Given the description of an element on the screen output the (x, y) to click on. 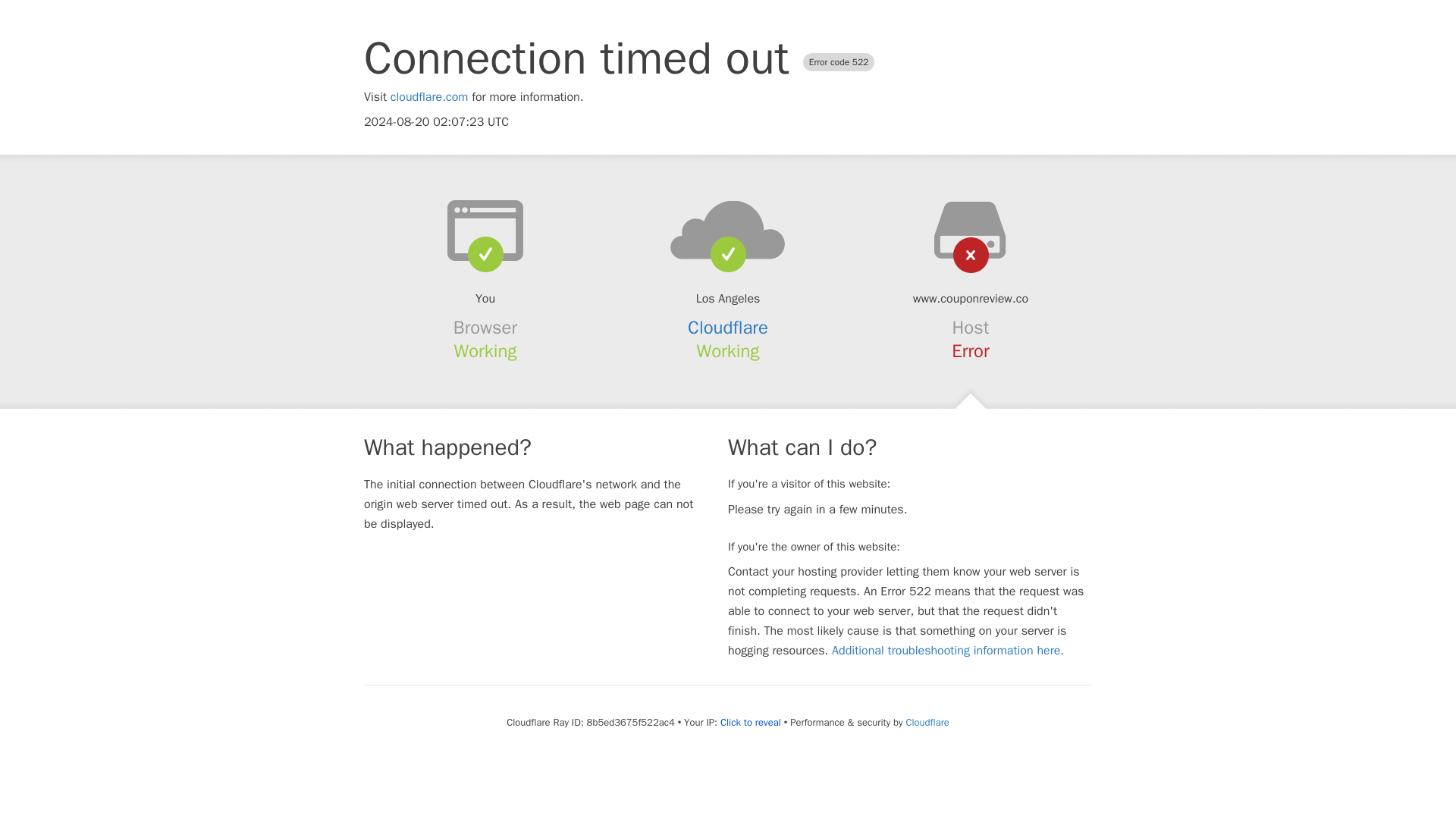
Additional troubleshooting information here. (947, 650)
Click to reveal (750, 722)
Cloudflare (727, 327)
cloudflare.com (429, 96)
Cloudflare (927, 721)
